Given the description of an element on the screen output the (x, y) to click on. 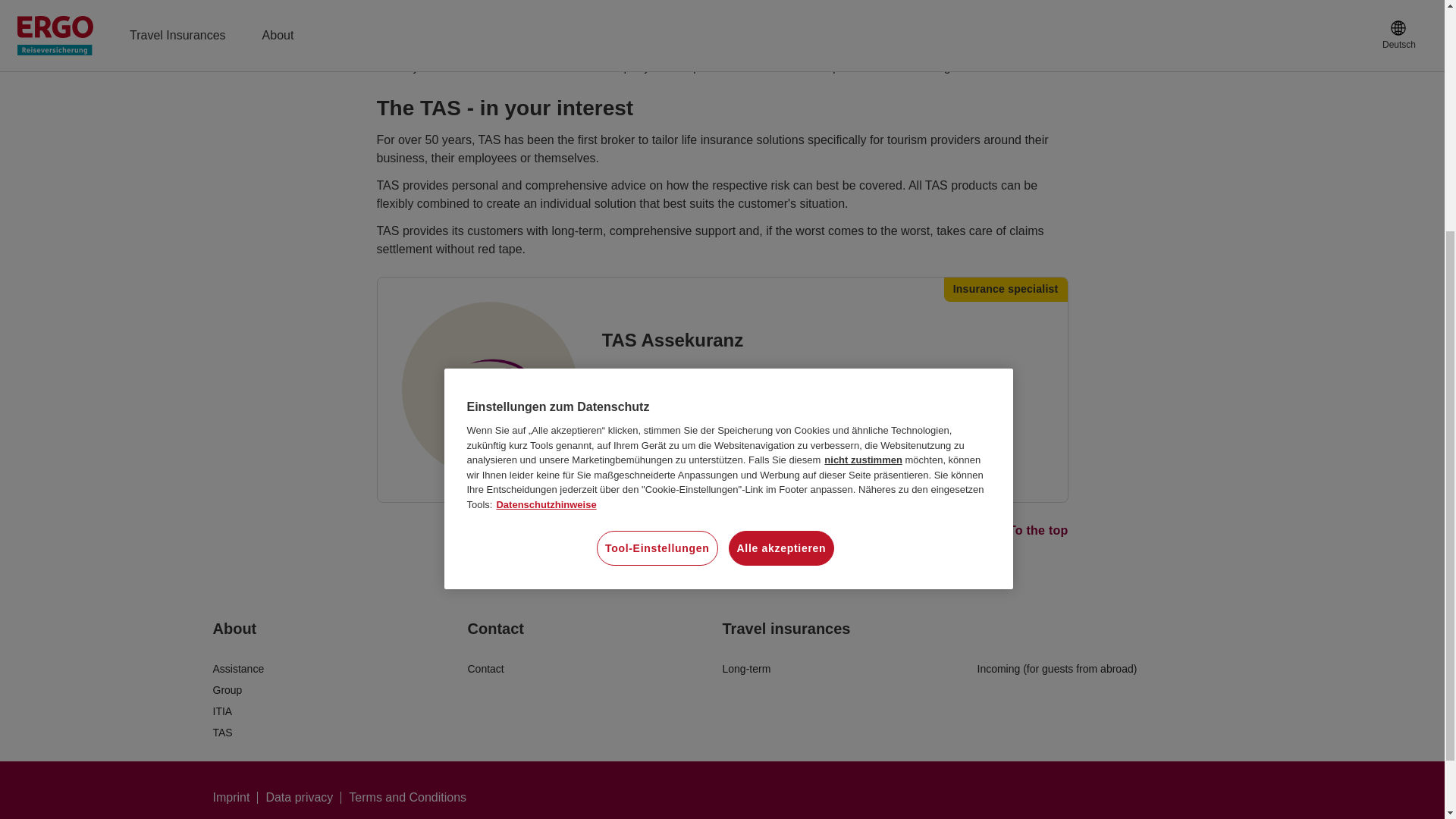
nicht zustimmen (863, 118)
Long-term (849, 668)
Terms and Conditions (407, 797)
Alle akzeptieren (781, 206)
Imprint (234, 797)
Contact (594, 668)
ITIA (339, 711)
Group (339, 690)
To the top (721, 530)
To the top (1027, 529)
